Given the description of an element on the screen output the (x, y) to click on. 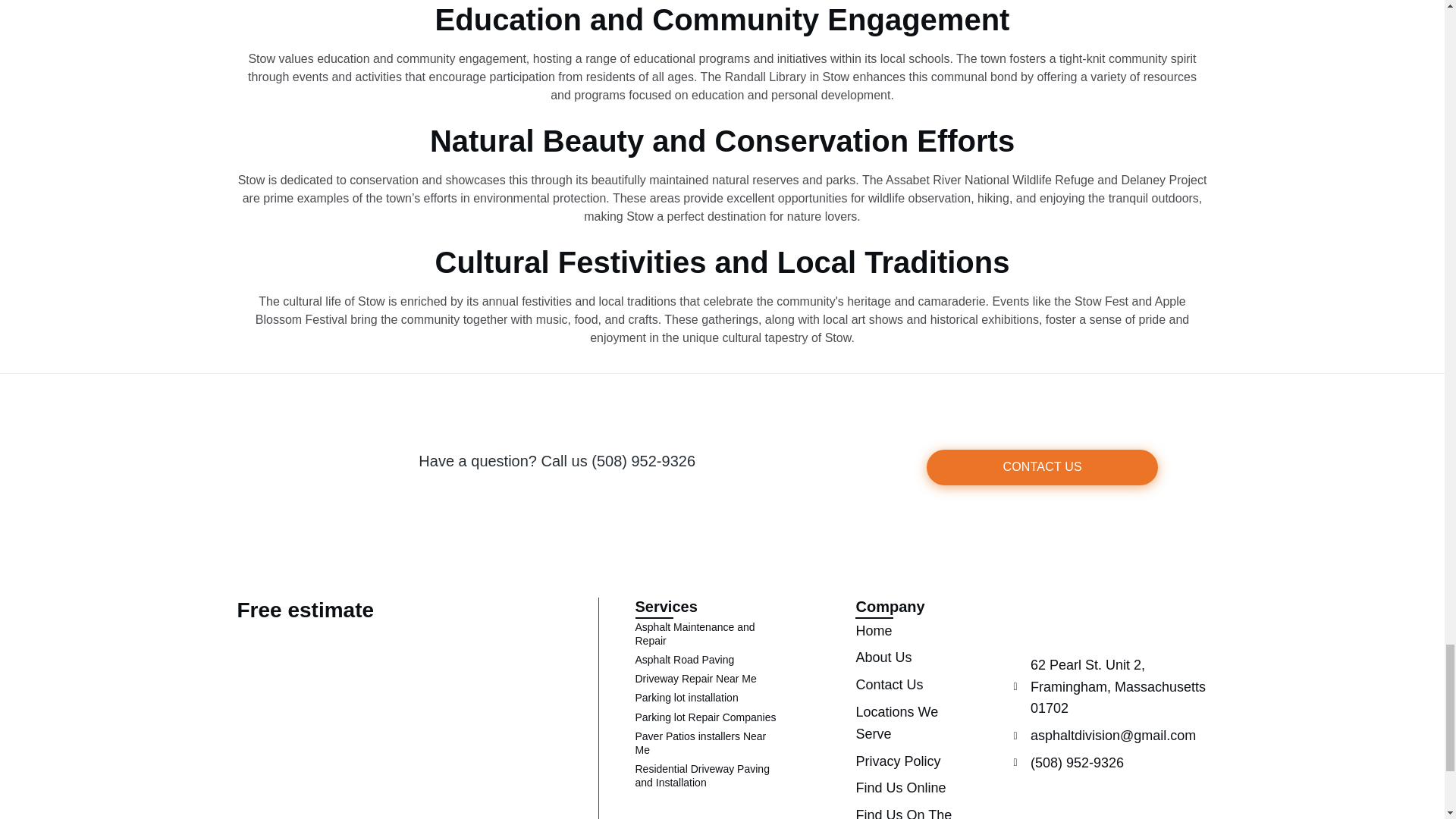
Get Quote Form Footer - Asphalt (410, 679)
